Given the description of an element on the screen output the (x, y) to click on. 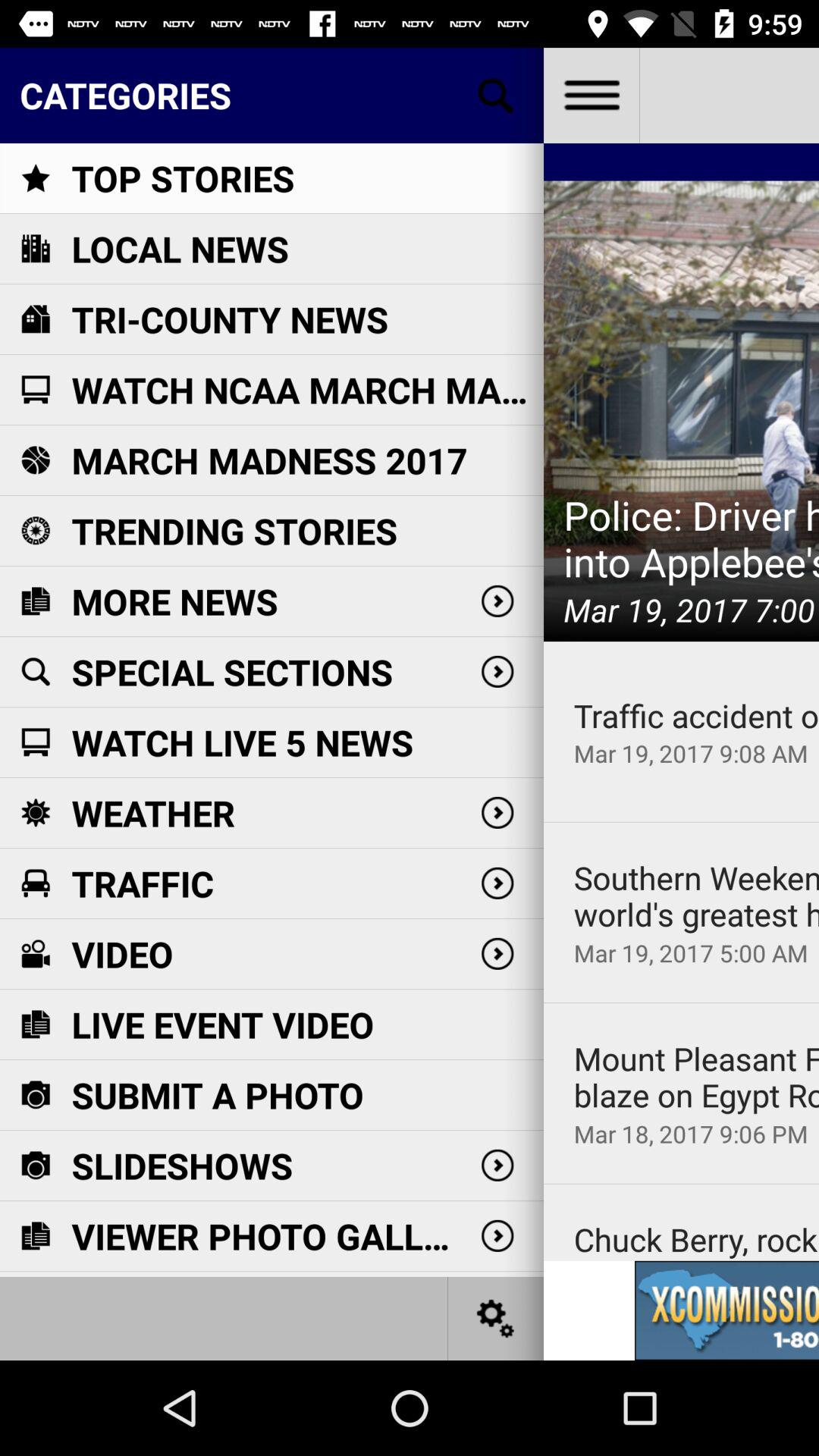
click on the icon which is to the left of march madness 2017 (35, 460)
click on sub section icon at right side of the special sections (497, 671)
select search button (495, 95)
click on the video icon (35, 953)
click on the settings icon (495, 1317)
select the icon left to watch live 5 news (35, 742)
select the button right to the text video (497, 953)
select the fourth icon under the categories (35, 390)
select the right arrow button right side to traffic (497, 883)
